Given the description of an element on the screen output the (x, y) to click on. 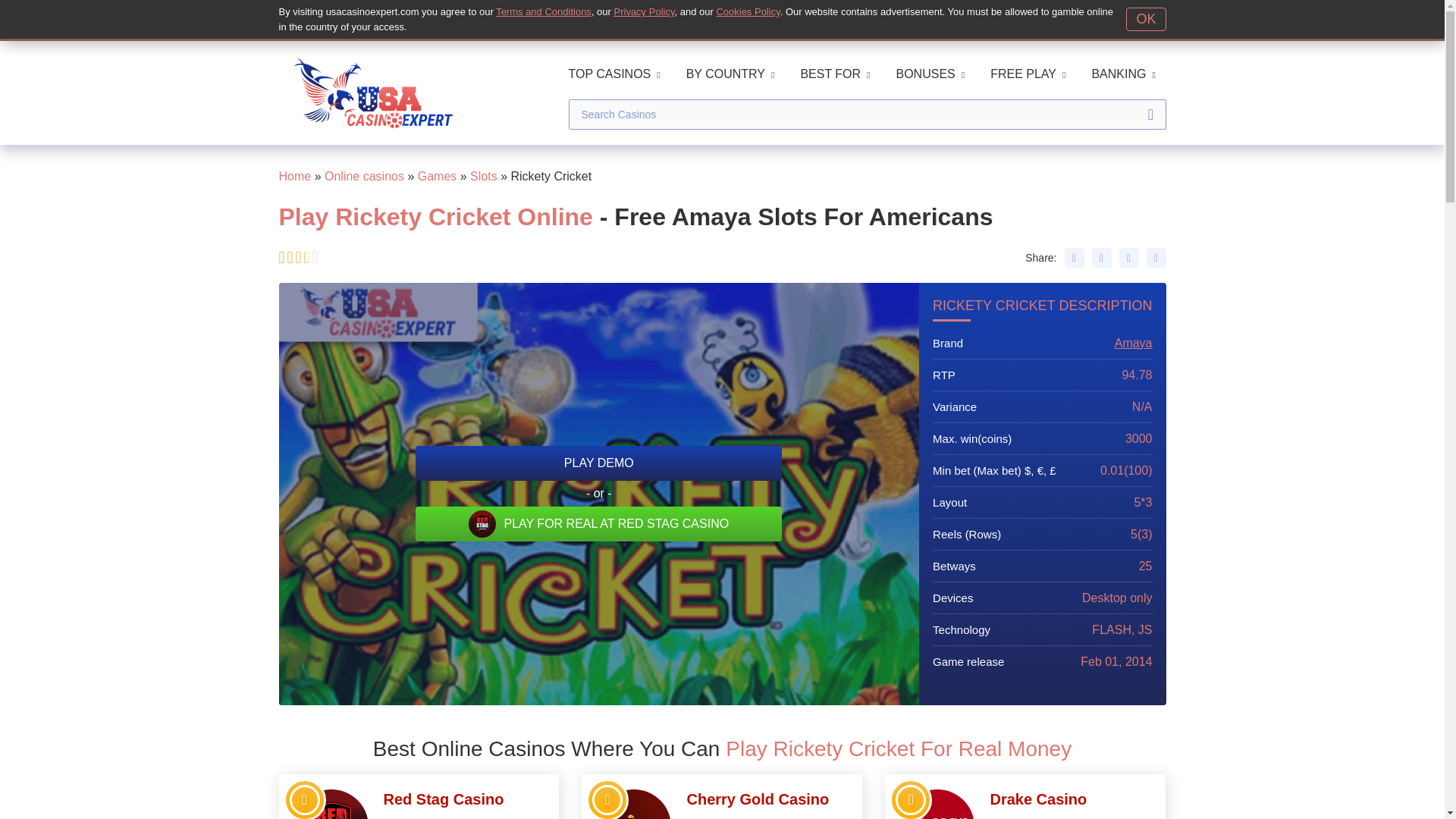
Share on Pinterest (1128, 257)
Privacy Policy (644, 11)
OK (1145, 19)
Share on Twitter (1102, 257)
Top 5 Casinos (304, 798)
BONUSES (930, 73)
Share on Facebook (1074, 257)
BEST FOR (834, 73)
BY COUNTRY (729, 73)
FREE PLAY (1027, 73)
TOP CASINOS (615, 73)
Top 5 Casinos (910, 798)
Top 5 Casinos (607, 798)
Share on Tumblr (1156, 257)
Terms and Conditions (543, 11)
